Given the description of an element on the screen output the (x, y) to click on. 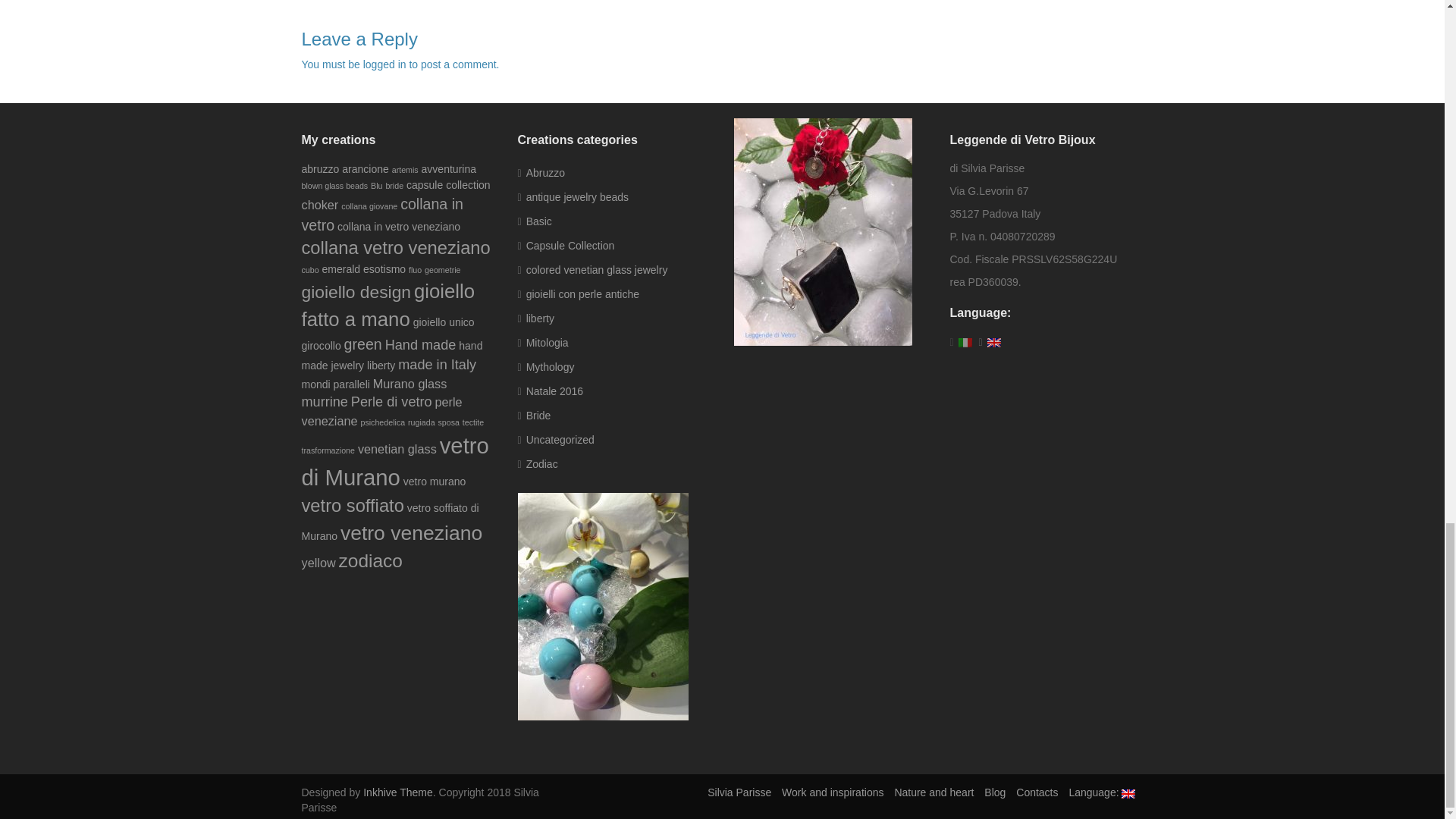
abruzzo (320, 168)
artemis (405, 169)
choker (320, 204)
logged in (384, 64)
arancione (365, 168)
bride (394, 185)
English (1101, 792)
capsule collection (448, 184)
avventurina (449, 168)
blown glass beads (334, 185)
